Given the description of an element on the screen output the (x, y) to click on. 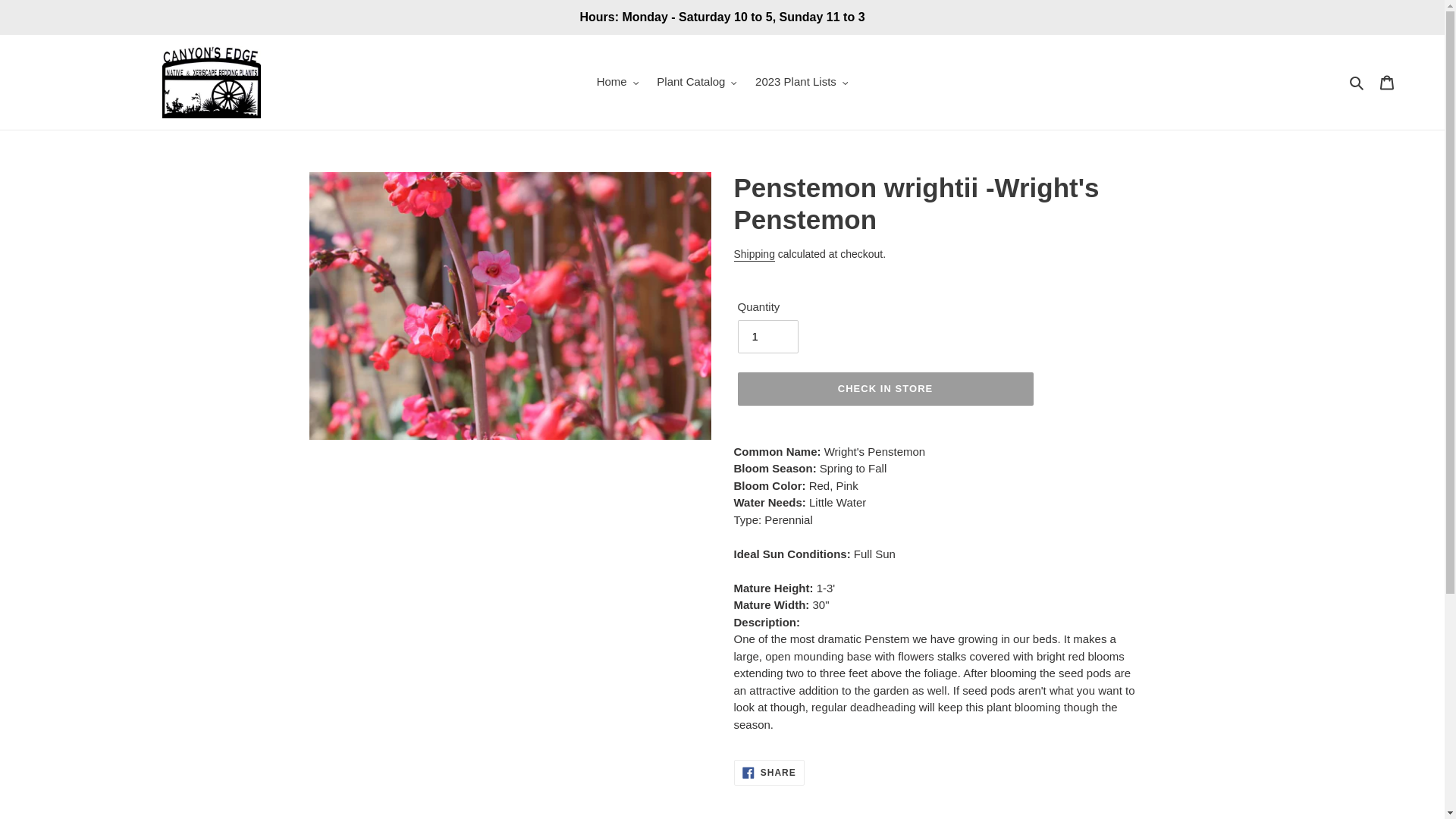
Home (617, 82)
Search (1357, 81)
Plant Catalog (696, 82)
1 (766, 336)
2023 Plant Lists (802, 82)
Cart (1387, 82)
